Given the description of an element on the screen output the (x, y) to click on. 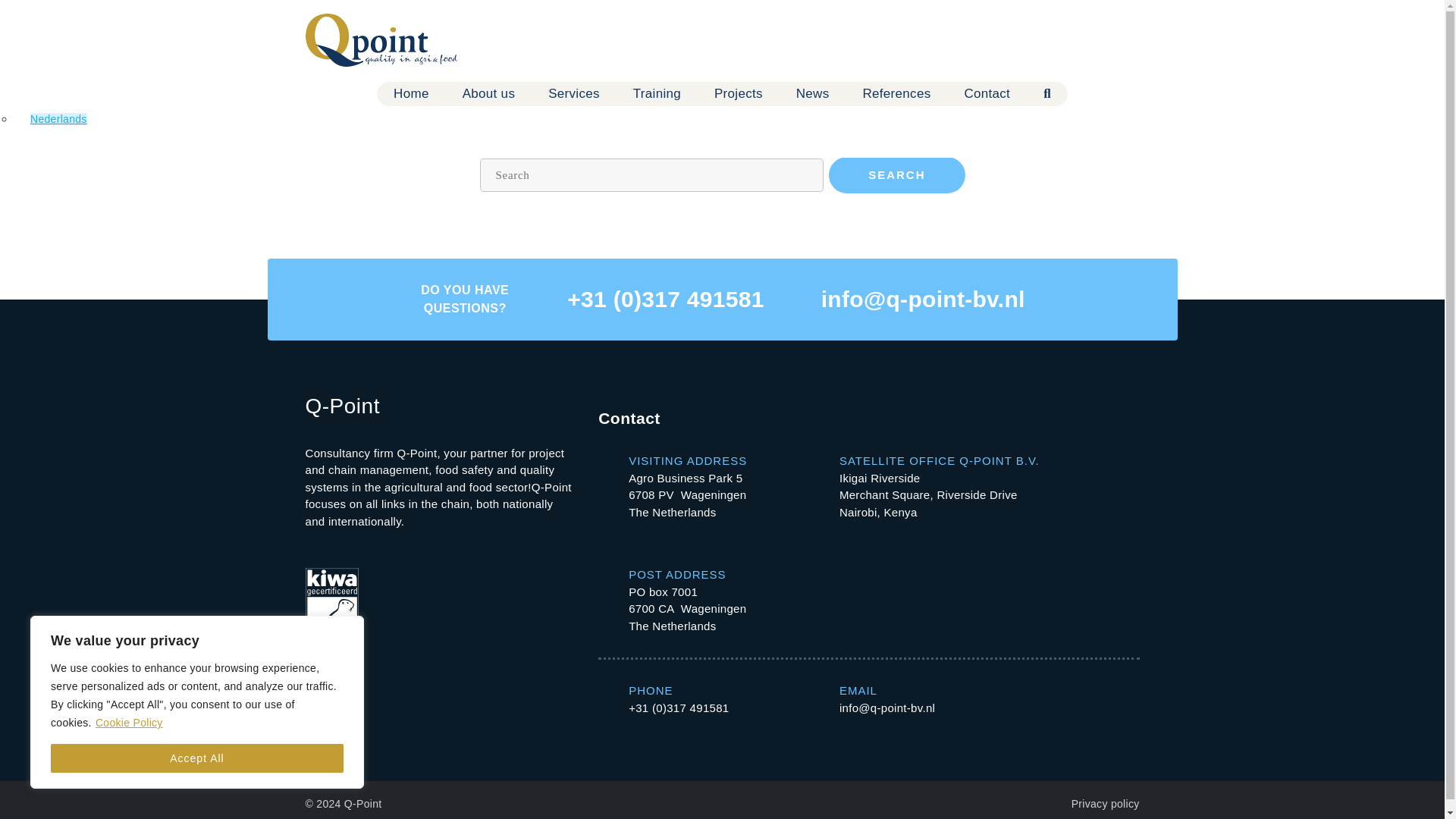
Search (1047, 93)
Services (573, 93)
Accept All (196, 758)
Cookie Policy (128, 722)
References (895, 93)
Nederlands (58, 119)
News (812, 93)
To the homepage (380, 39)
Training (657, 93)
Contact (986, 93)
